Given the description of an element on the screen output the (x, y) to click on. 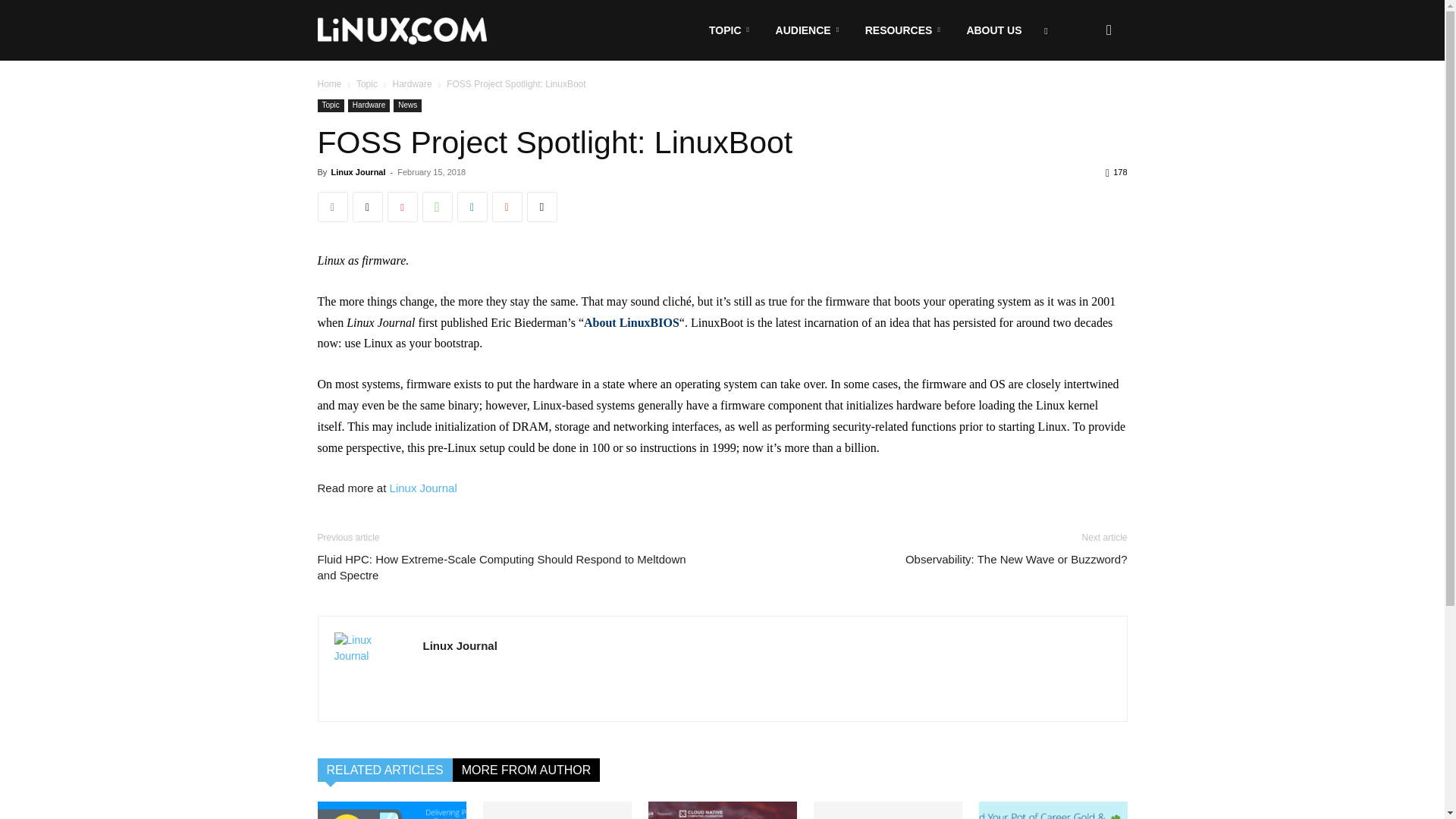
Email (540, 206)
TOPIC (731, 30)
Facebook (332, 206)
View all posts in Topic (366, 83)
ReddIt (506, 206)
Twitter (366, 206)
WhatsApp (436, 206)
View all posts in Hardware (412, 83)
Linkedin (471, 206)
Pinterest (401, 206)
Linux.com (401, 30)
Search (1085, 102)
Linux.com (401, 30)
